Given the description of an element on the screen output the (x, y) to click on. 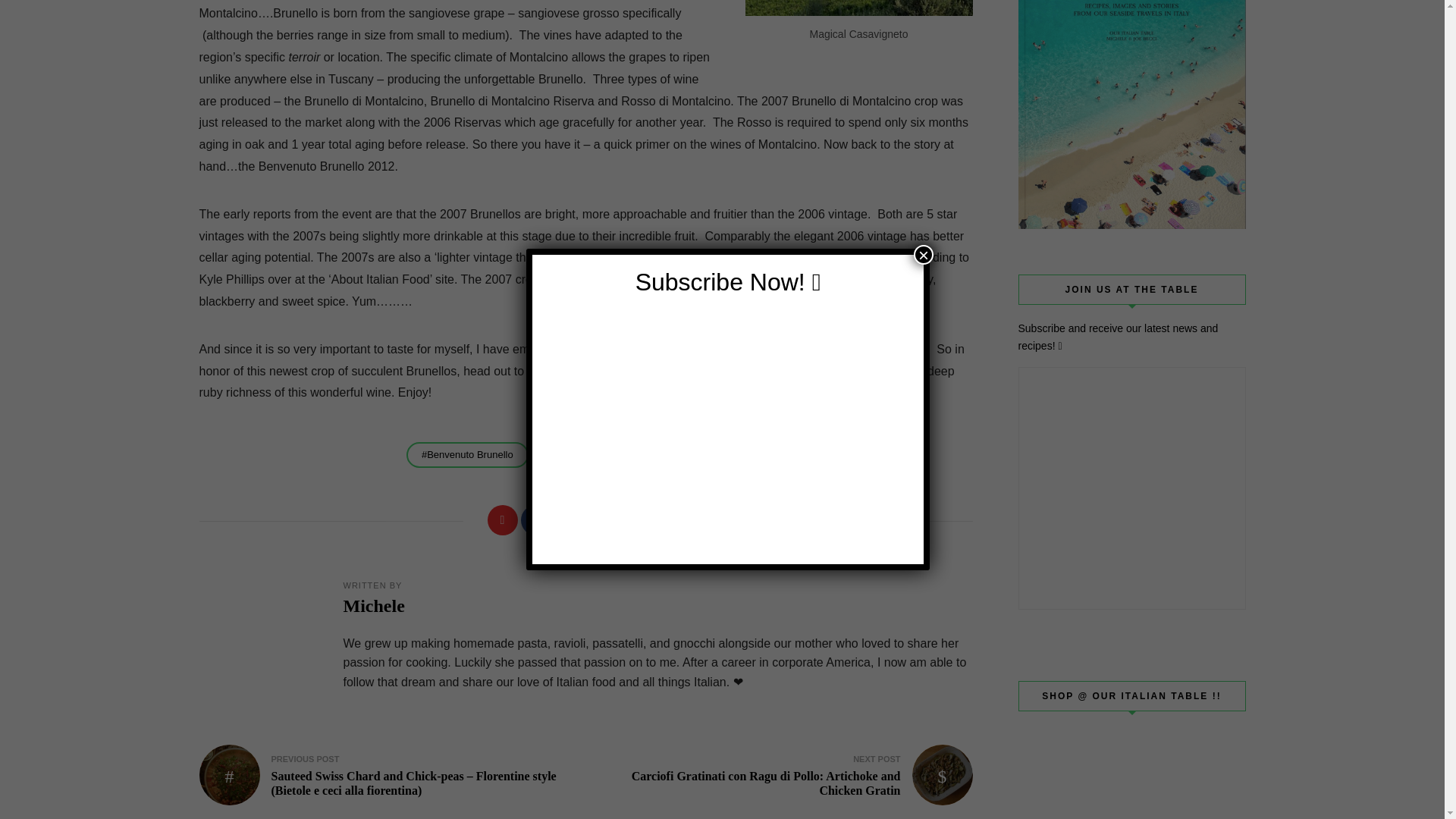
Casavigneto (858, 7)
WhatsApp (668, 520)
Like (501, 520)
Facebook (534, 520)
Twitter (568, 520)
Yummly (635, 520)
Pinterest (601, 520)
